Given the description of an element on the screen output the (x, y) to click on. 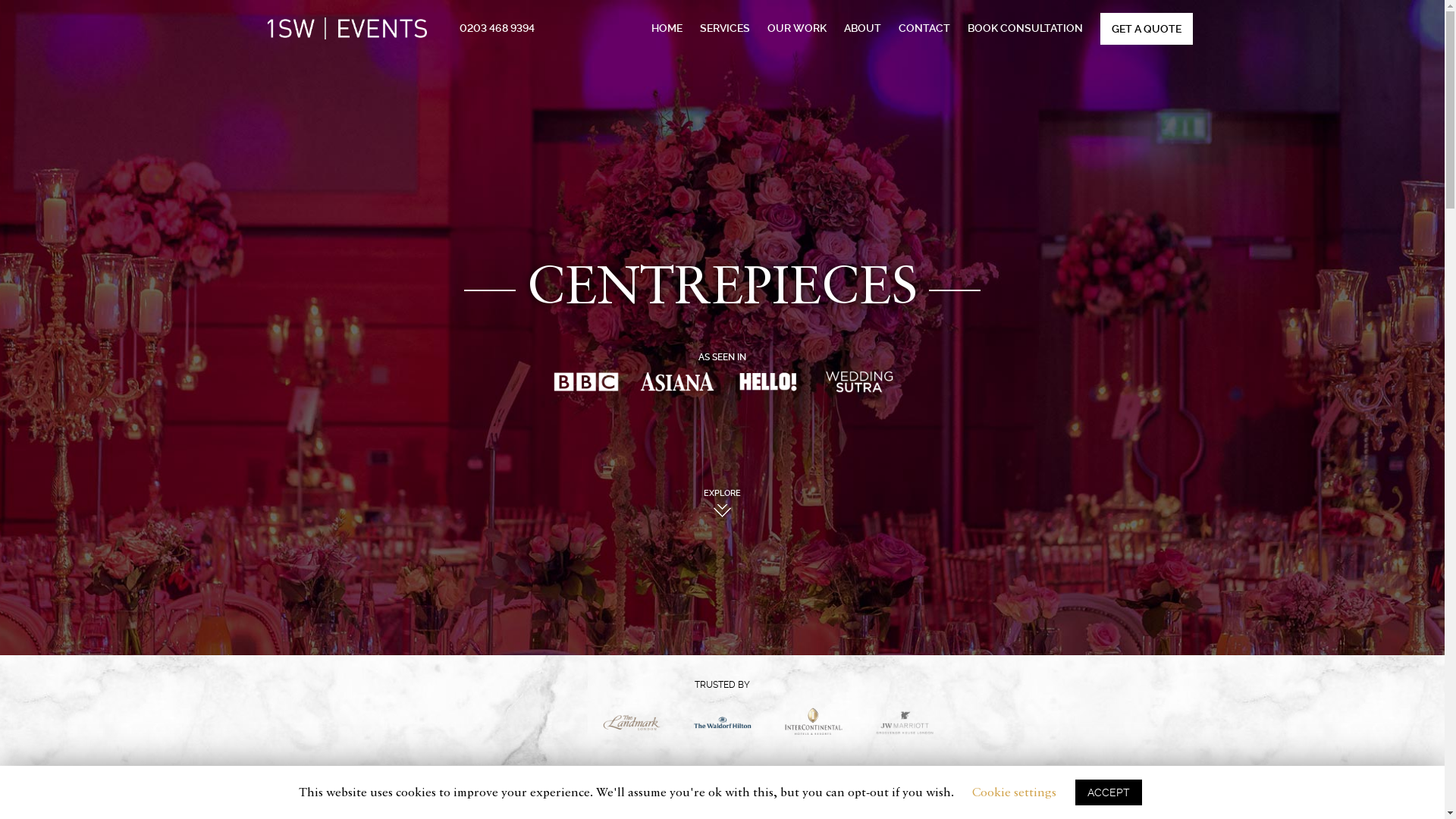
ABOUT Element type: text (861, 27)
GET A QUOTE Element type: text (1146, 28)
BOOK CONSULTATION Element type: text (1024, 27)
0203 468 9394 Element type: text (496, 27)
EXPLORE Element type: text (722, 516)
Cookie settings Element type: text (1014, 793)
CONTACT Element type: text (923, 27)
HOME Element type: text (665, 27)
ACCEPT Element type: text (1108, 792)
OUR WORK Element type: text (796, 27)
SERVICES Element type: text (724, 27)
